Given the description of an element on the screen output the (x, y) to click on. 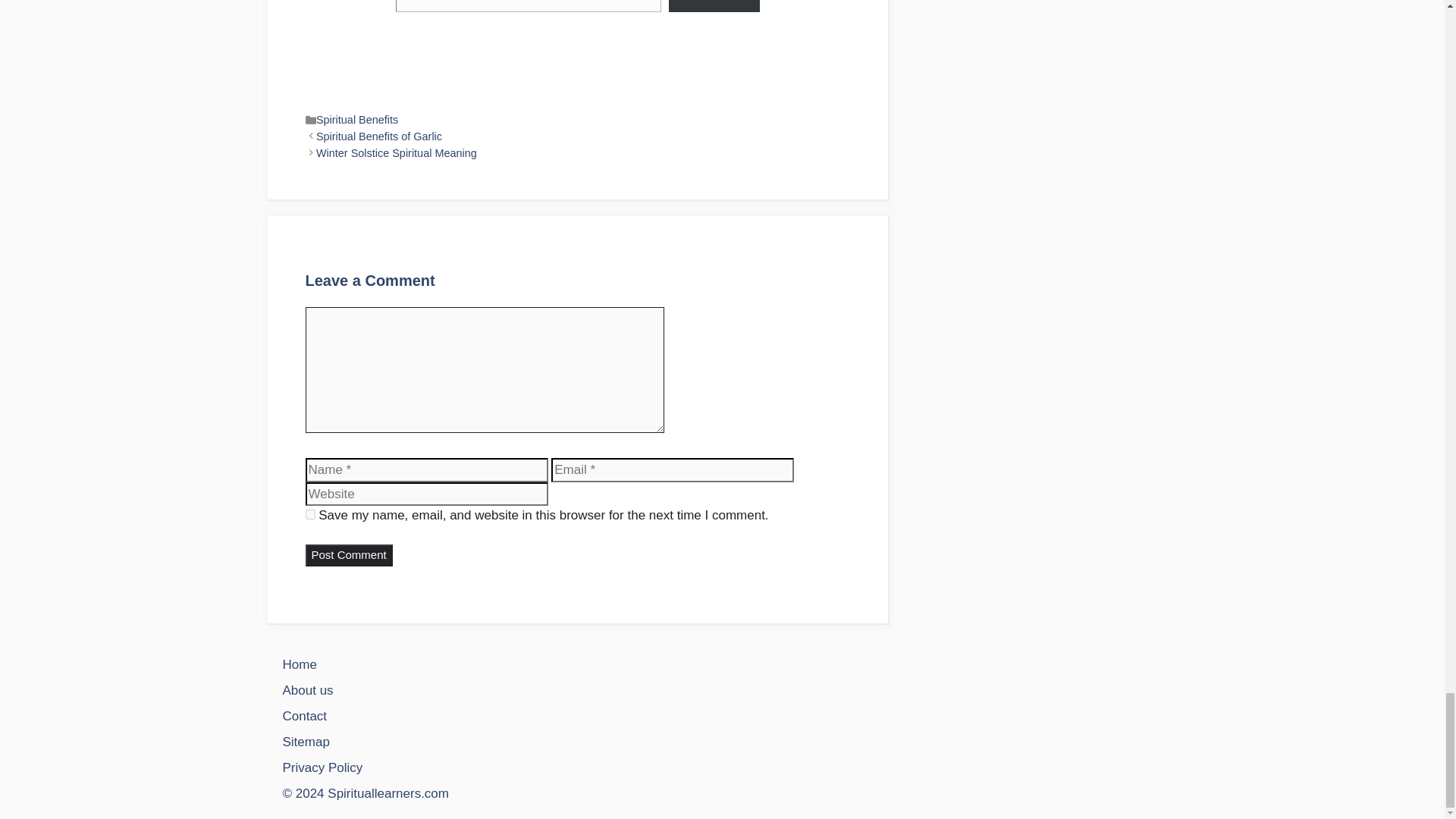
Spiritual Benefits of Garlic (378, 136)
Subscribe (713, 6)
Post Comment (347, 555)
Contact (304, 716)
Home (298, 664)
Sitemap (305, 741)
About us (307, 690)
Please fill in this field. (529, 6)
Winter Solstice Spiritual Meaning (396, 152)
Spiritual Benefits (356, 119)
Post Comment (347, 555)
yes (309, 514)
